Given the description of an element on the screen output the (x, y) to click on. 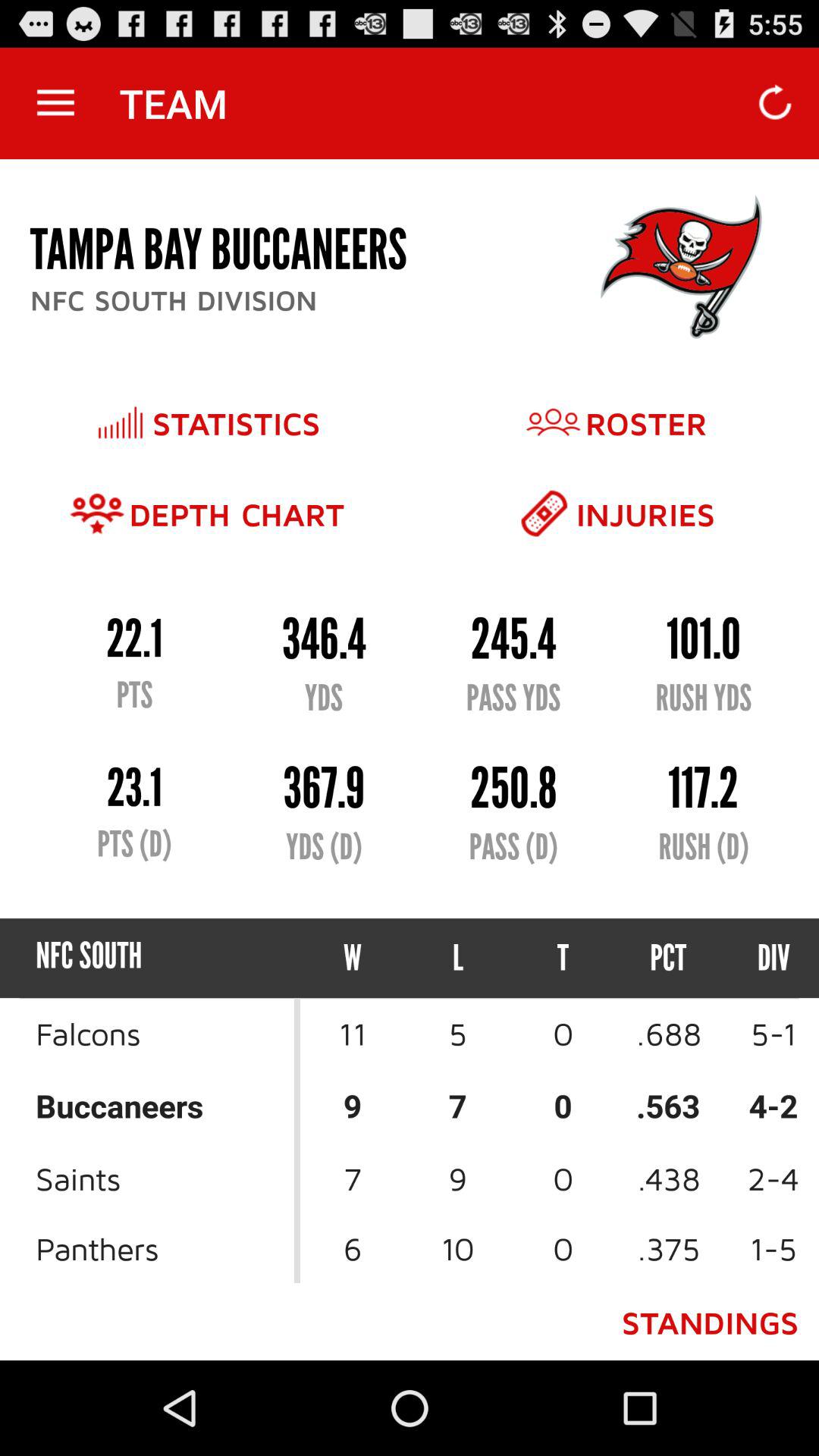
turn off the w (352, 958)
